Given the description of an element on the screen output the (x, y) to click on. 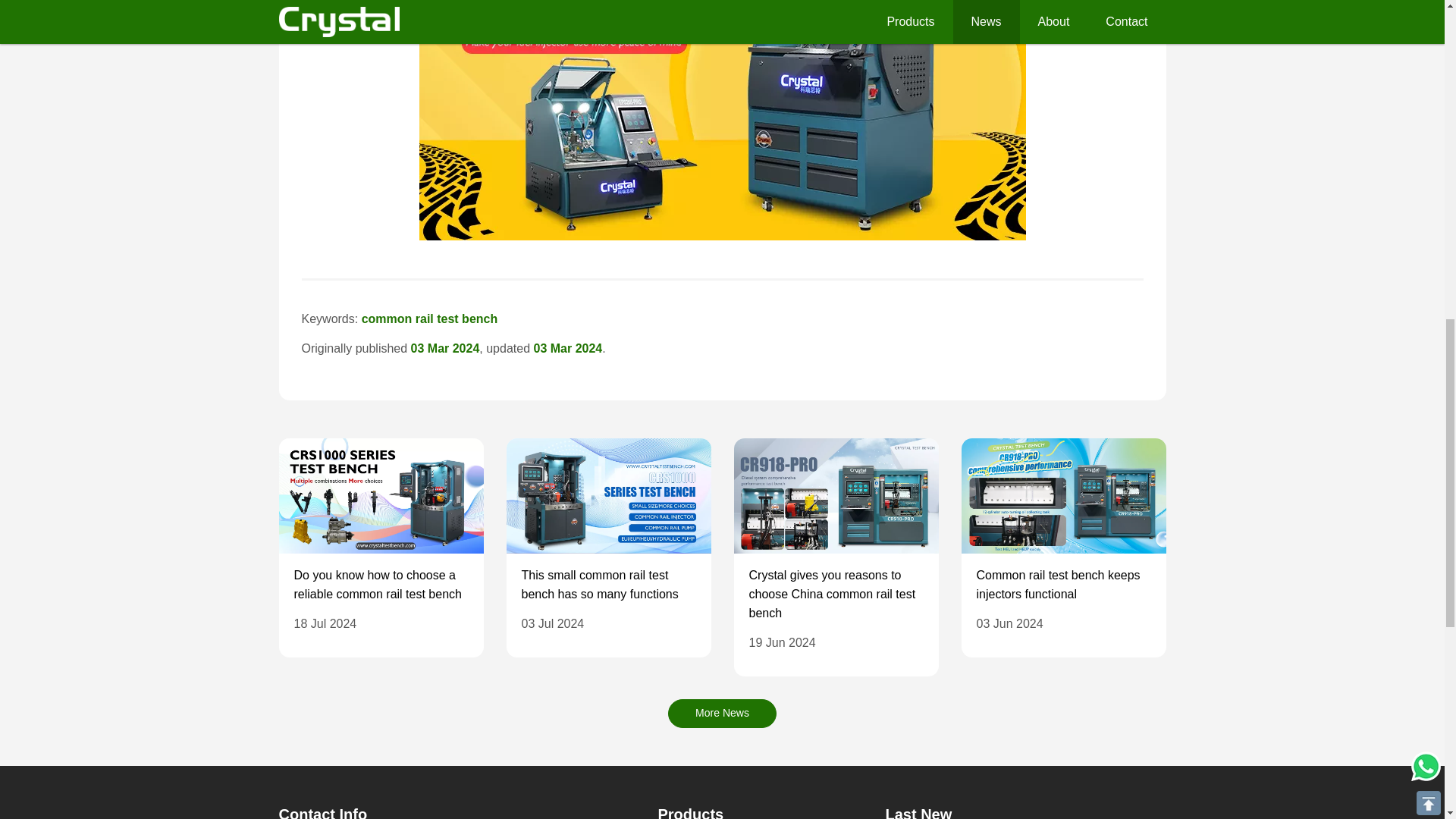
Do you know how to choose a reliable common rail test bench (377, 584)
More News (722, 713)
Common rail test bench keeps injectors functional (1058, 584)
This small common rail test bench has so many functions (599, 584)
